Given the description of an element on the screen output the (x, y) to click on. 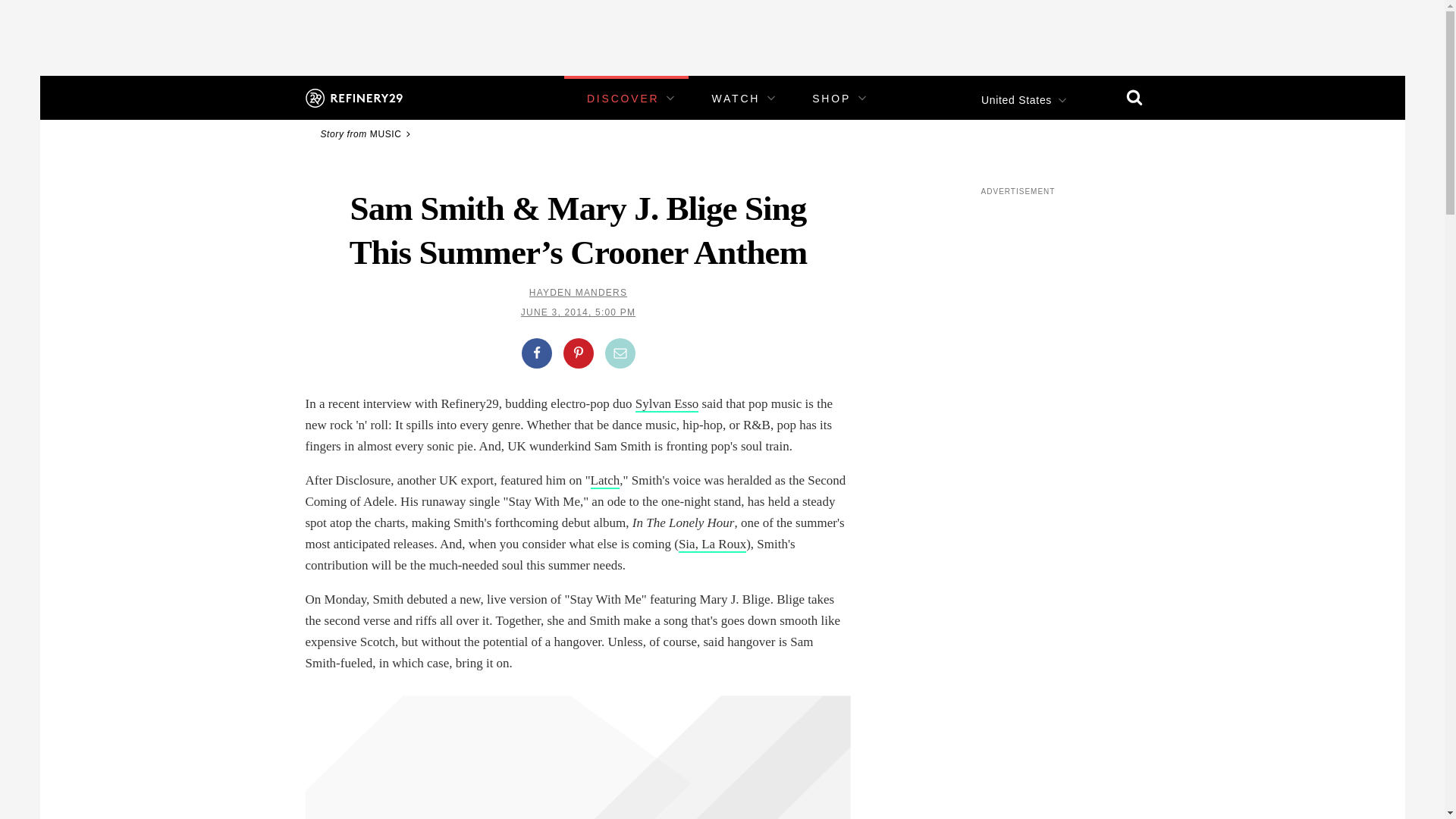
Sia, La Roux (711, 544)
Refinery29 (352, 97)
Story from MUSIC (367, 133)
SHOP (831, 98)
HAYDEN MANDERS (578, 292)
JUNE 3, 2014, 5:00 PM (577, 312)
Latch (605, 480)
DISCOVER (622, 98)
Share on Pinterest (577, 353)
Sylvan Esso (666, 404)
